Given the description of an element on the screen output the (x, y) to click on. 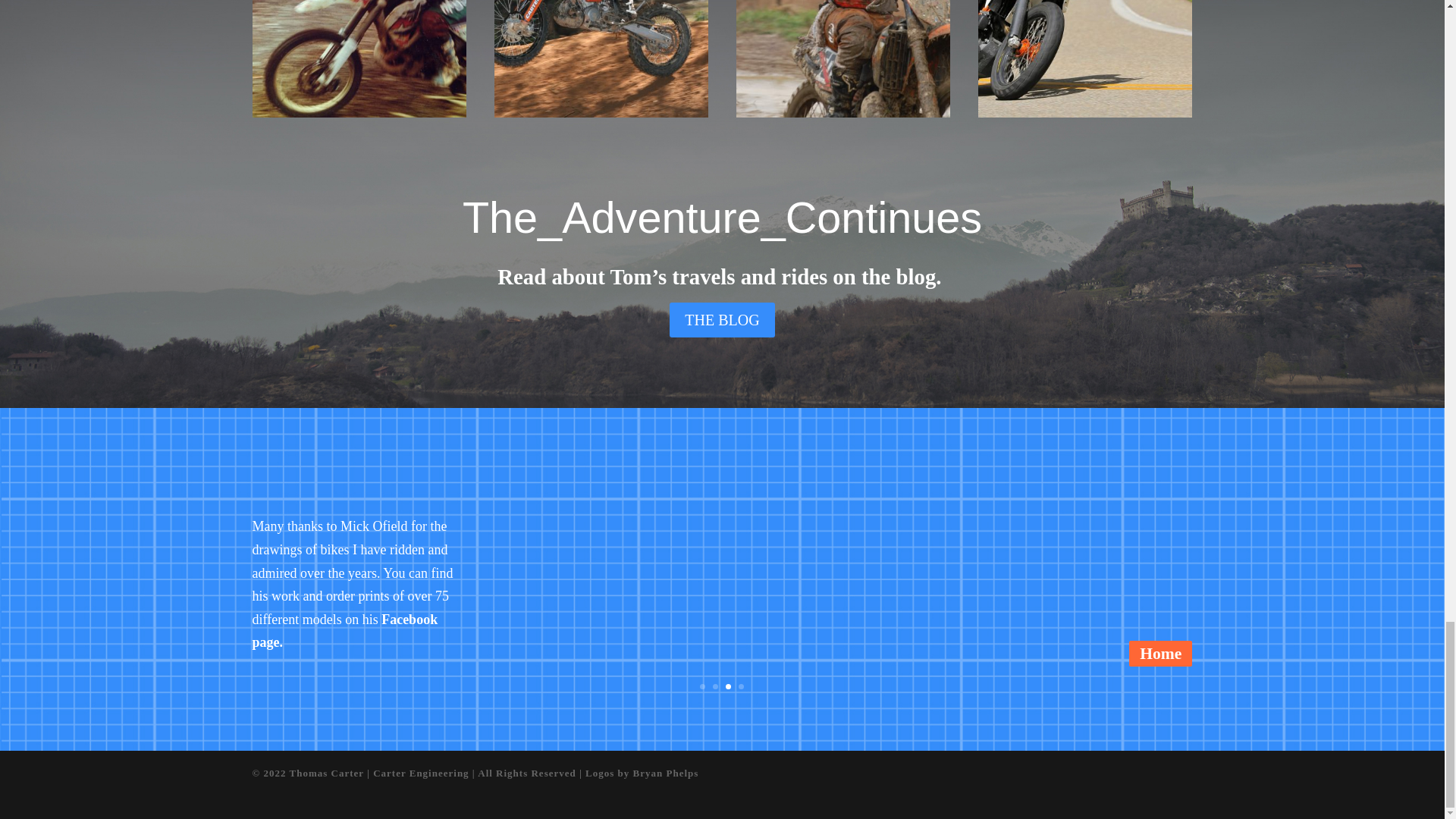
THE BLOG (721, 319)
Hare Scrambles - 1995 (358, 112)
3 (727, 686)
GNCC 2007 (601, 112)
Facebook page. (344, 630)
Home (1160, 653)
4 (741, 686)
Egyptian HS 2010 (843, 112)
KTM 690 - Tale of the Dragon - 2019 (1085, 112)
